Given the description of an element on the screen output the (x, y) to click on. 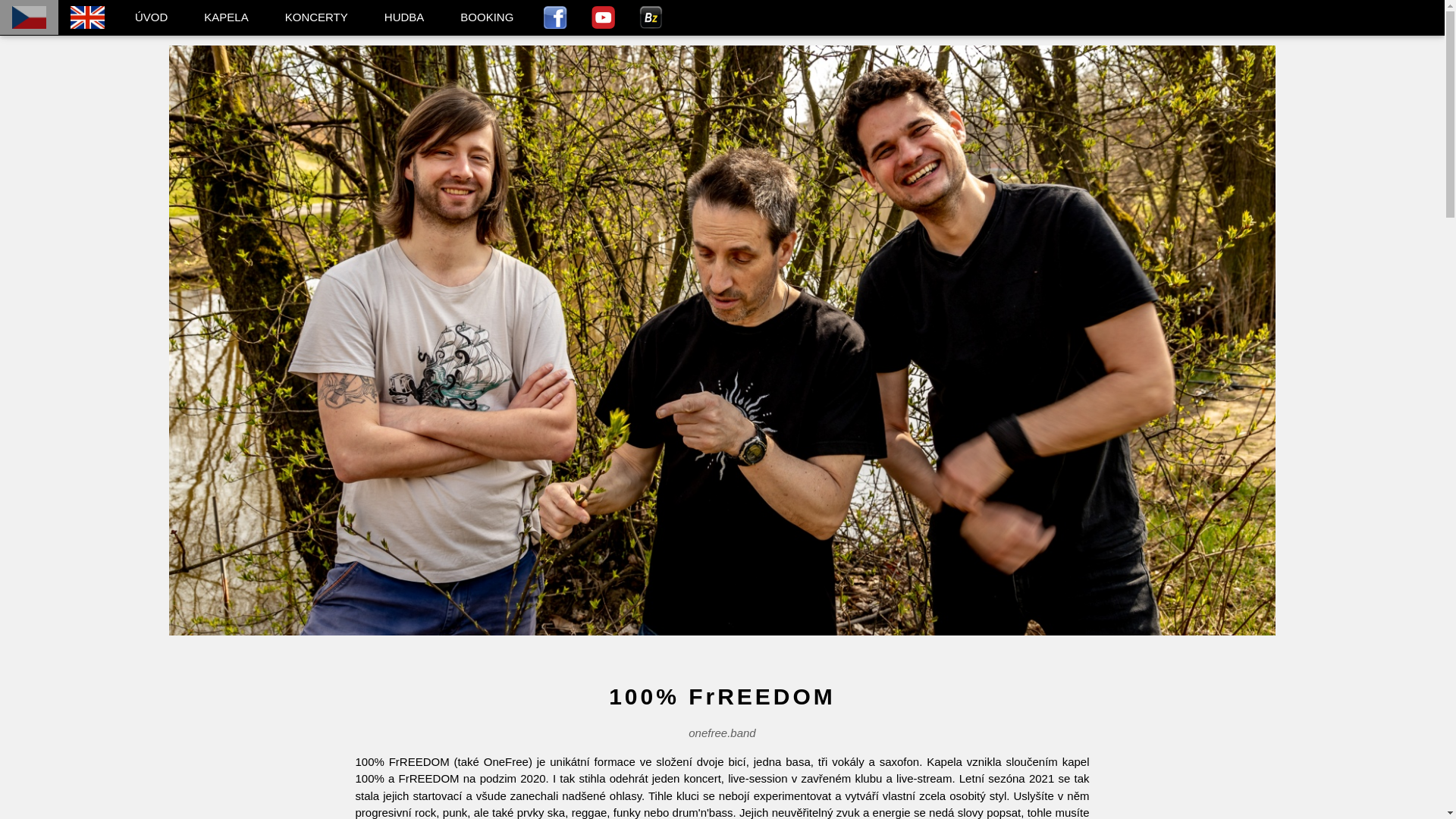
KONCERTY Element type: text (316, 17)
BOOKING Element type: text (486, 17)
HUDBA Element type: text (404, 17)
KAPELA Element type: text (225, 17)
